Given the description of an element on the screen output the (x, y) to click on. 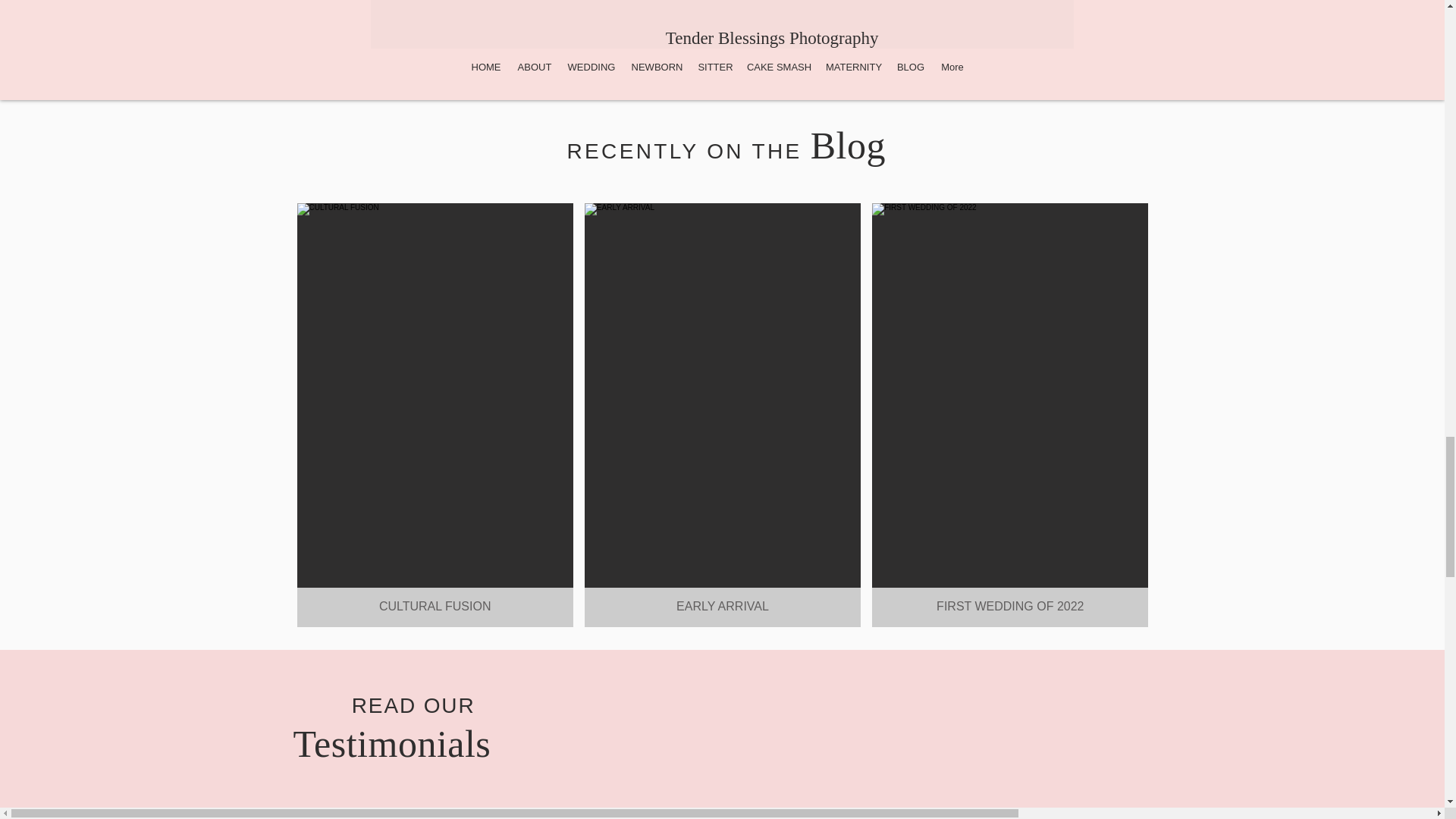
Milestones (892, 260)
Weddings (1176, 194)
